Given the description of an element on the screen output the (x, y) to click on. 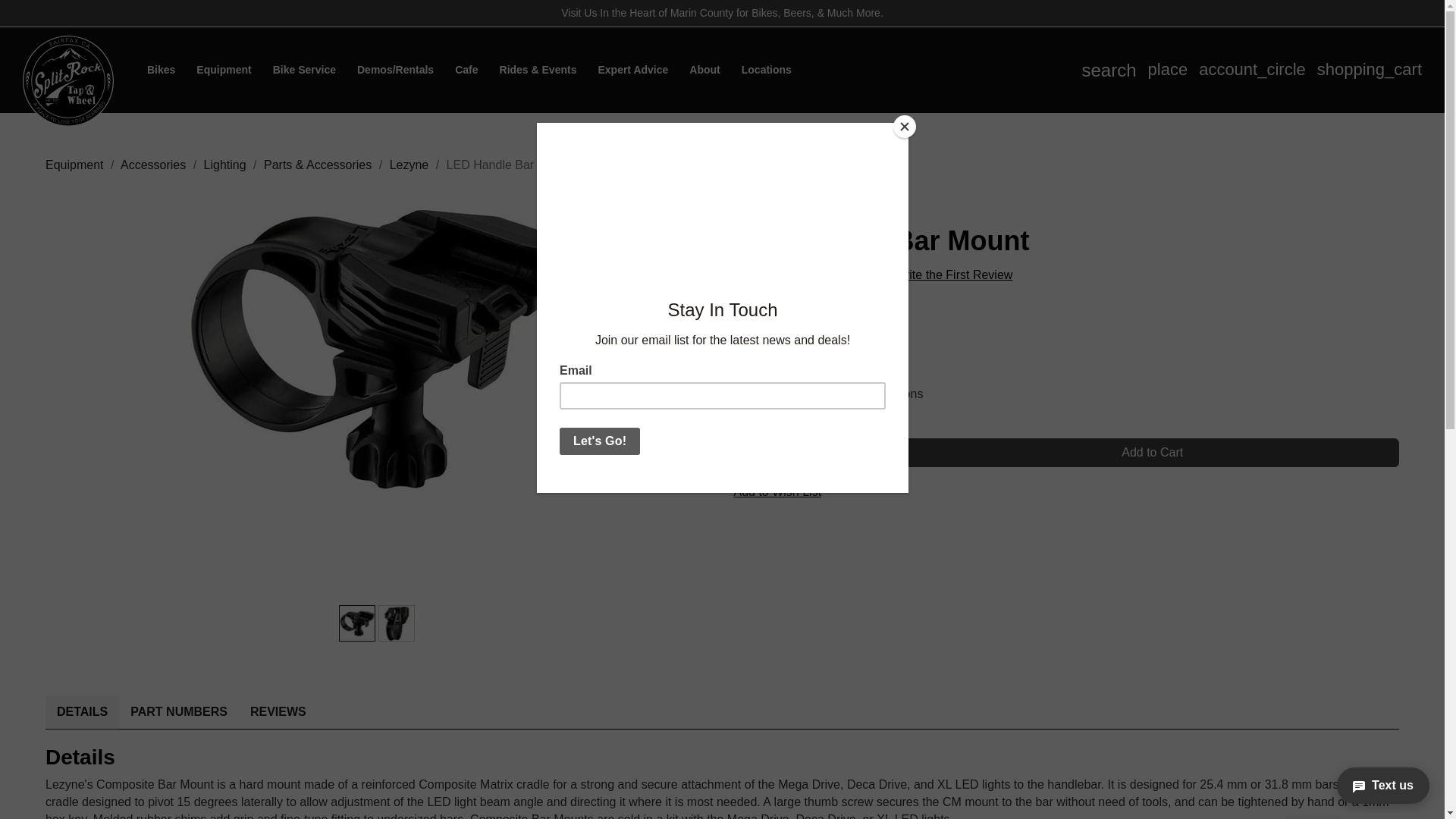
Account (1252, 69)
Lezyne LED Handle Bar Mount (1252, 69)
Search (378, 350)
1 (1109, 69)
Cart (808, 452)
Color: Black (1369, 69)
PayPal Message 1 (1369, 69)
